Given the description of an element on the screen output the (x, y) to click on. 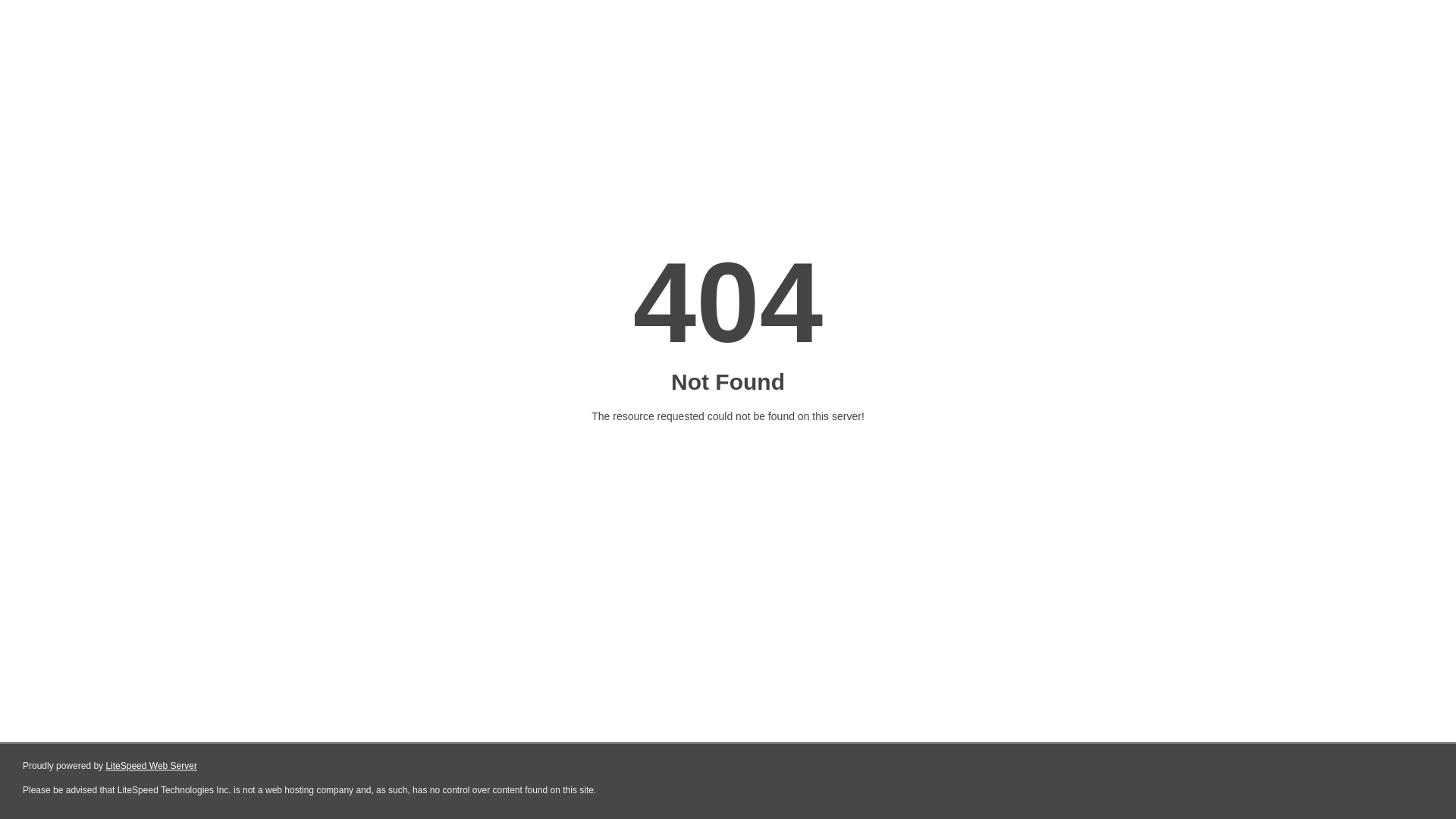
LiteSpeed Web Server Element type: text (151, 765)
